Given the description of an element on the screen output the (x, y) to click on. 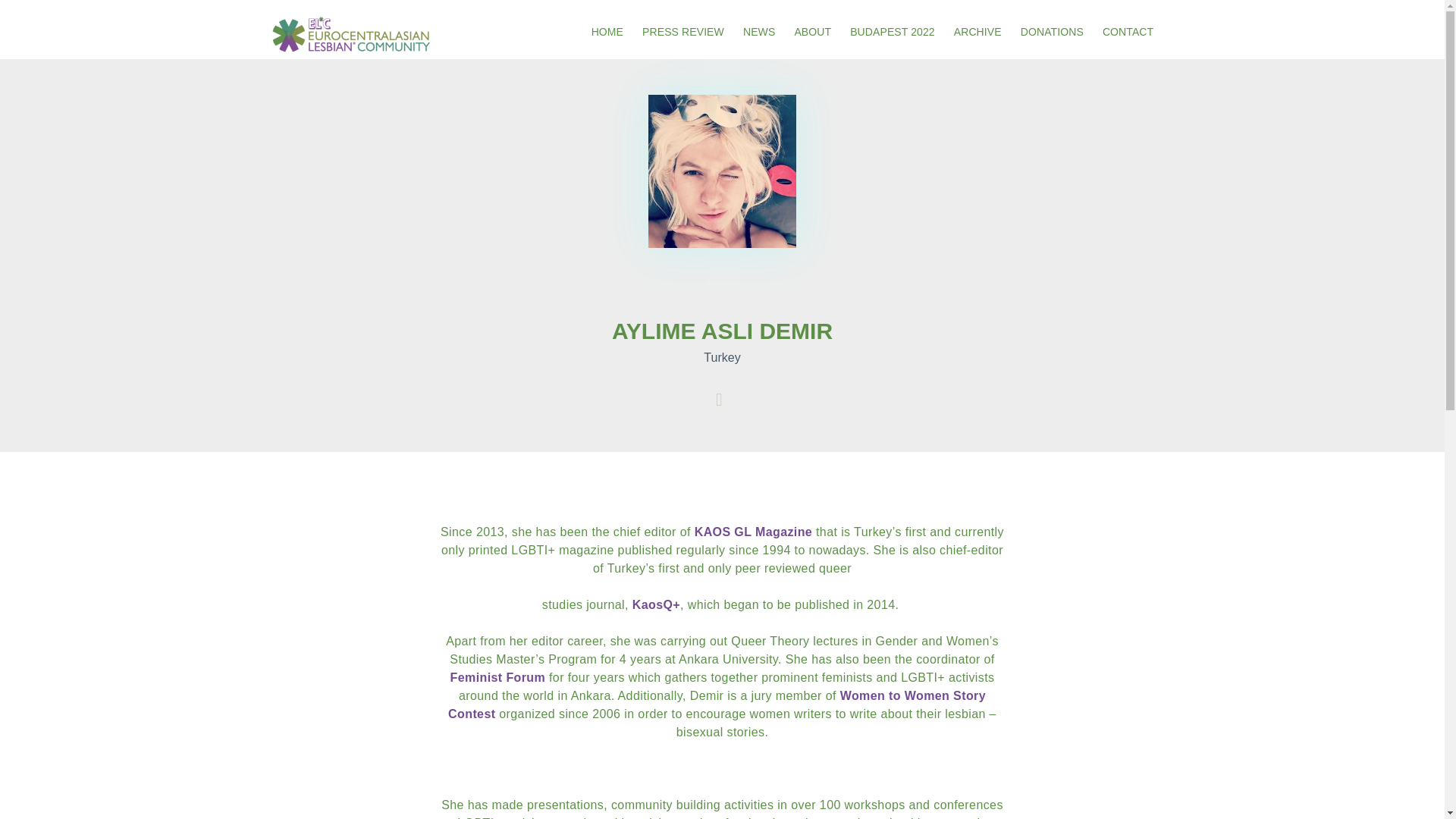
CONTACT (1127, 29)
Women to Women Story Contest (716, 704)
BUDAPEST 2022 (892, 29)
KAOS GL Magazine (753, 531)
ARCHIVE (976, 29)
DONATIONS (1050, 29)
Feminist Forum (497, 676)
PRESS REVIEW (683, 29)
